Given the description of an element on the screen output the (x, y) to click on. 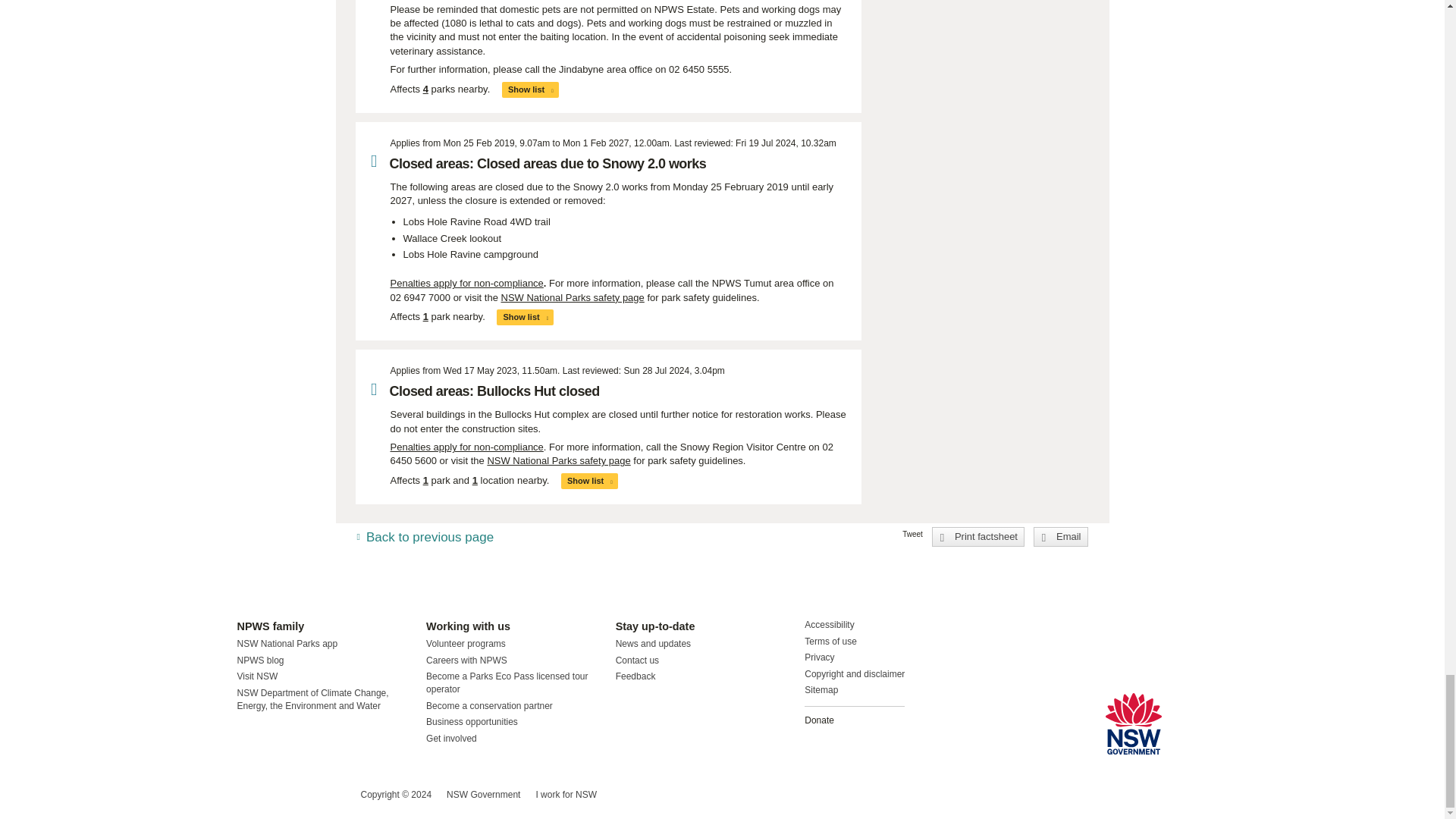
Visit NSW National Parks on Instagram (283, 795)
Visit NSW National Parks on Youtube (315, 795)
Visit NSW National Parks on Facebook (249, 795)
Print-friendly version of these webpages (978, 537)
New South Wales Government (1133, 723)
